Given the description of an element on the screen output the (x, y) to click on. 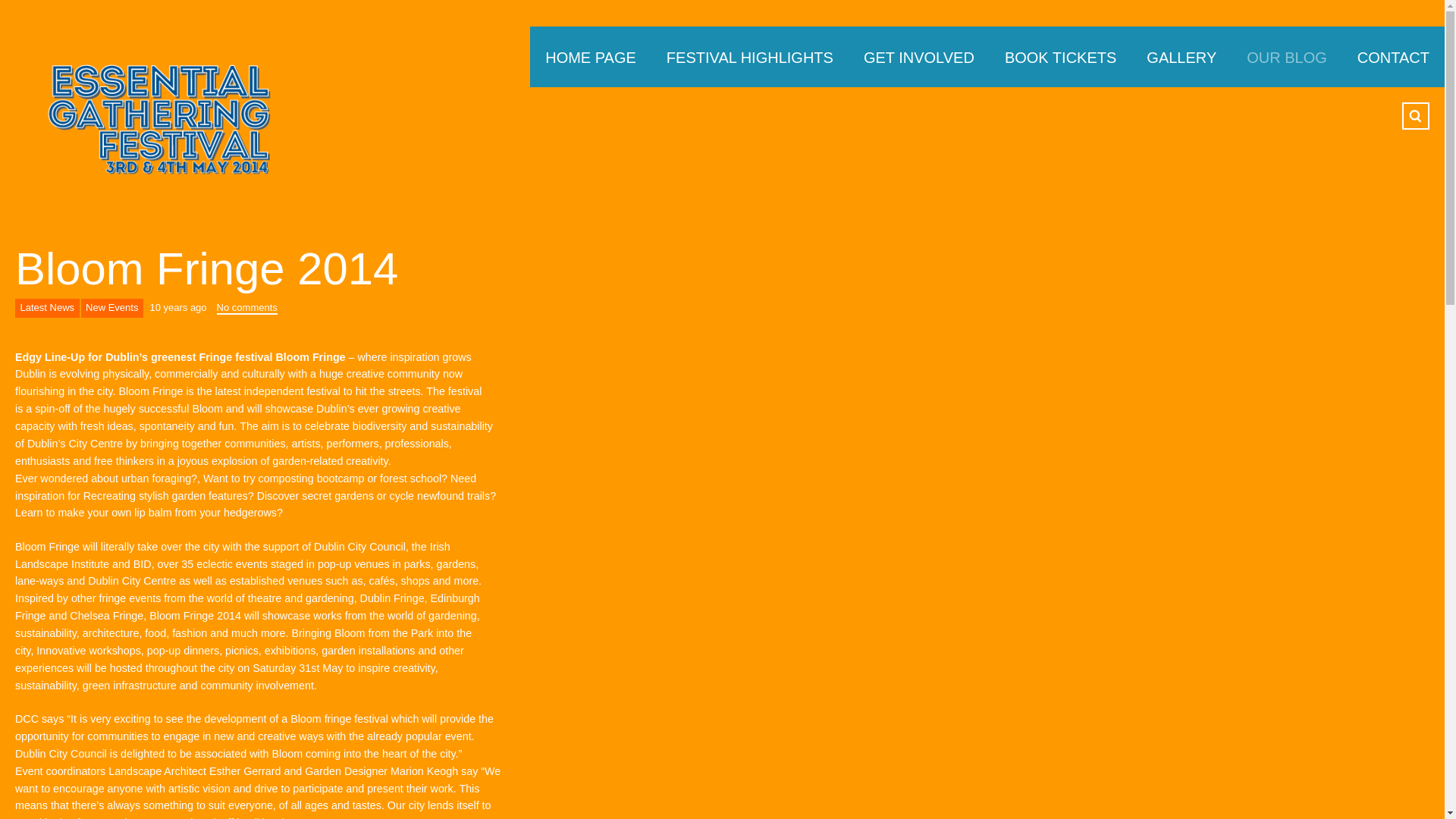
Search ... (1415, 115)
Essential Gathering Festival (113, 118)
BOOK TICKETS (1060, 56)
OUR BLOG (1286, 56)
HOME PAGE (589, 56)
Latest News (47, 307)
No comments (247, 307)
Search ... (1415, 115)
GALLERY (1181, 56)
GET INVOLVED (919, 56)
CONTACT (1393, 56)
New Events (111, 307)
FESTIVAL HIGHLIGHTS (749, 56)
